Given the description of an element on the screen output the (x, y) to click on. 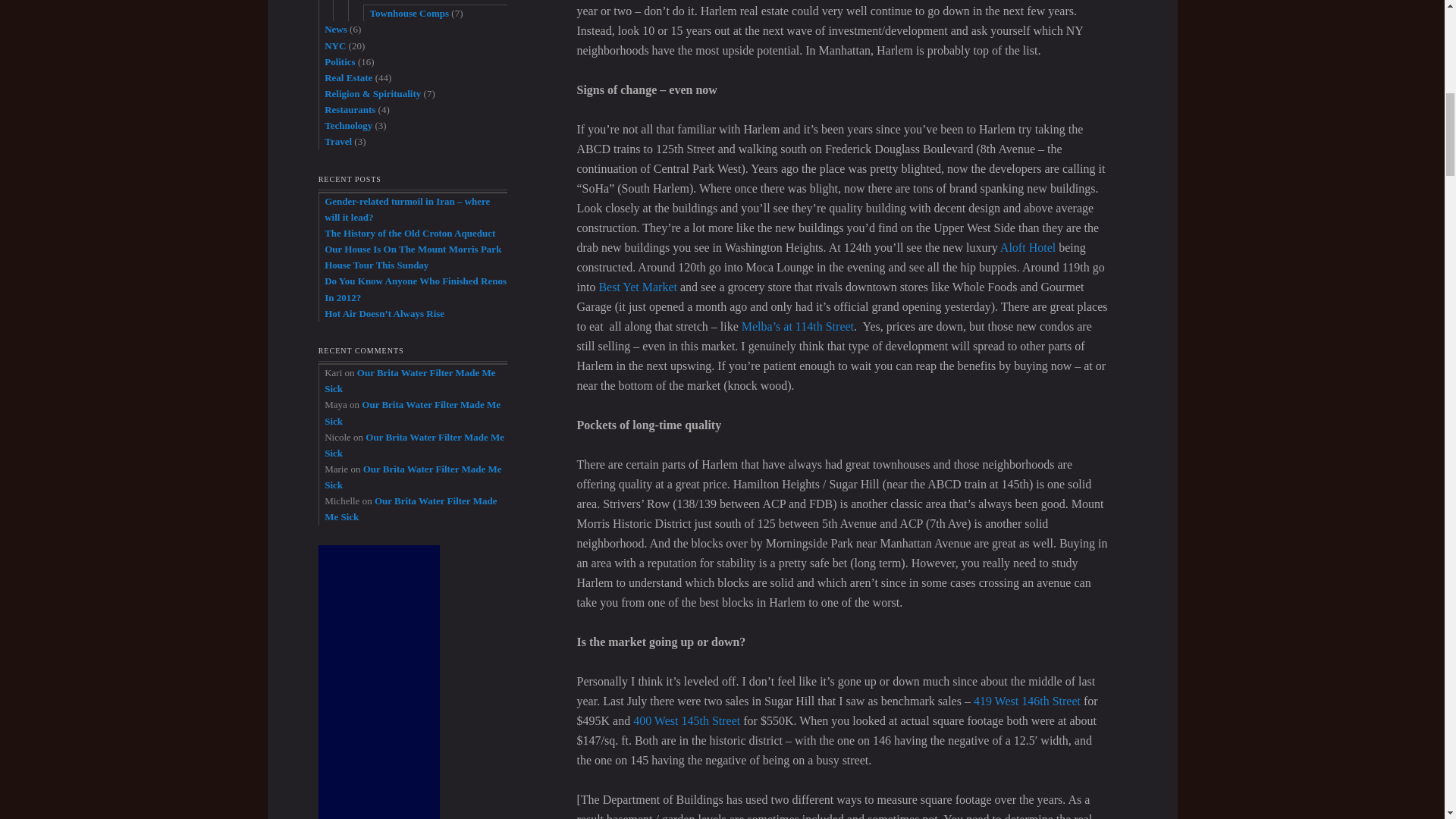
Best Yet Market (637, 286)
400 West 145th Street (686, 720)
419 West 146th Street (1027, 700)
Aloft Hotel (1027, 246)
